Given the description of an element on the screen output the (x, y) to click on. 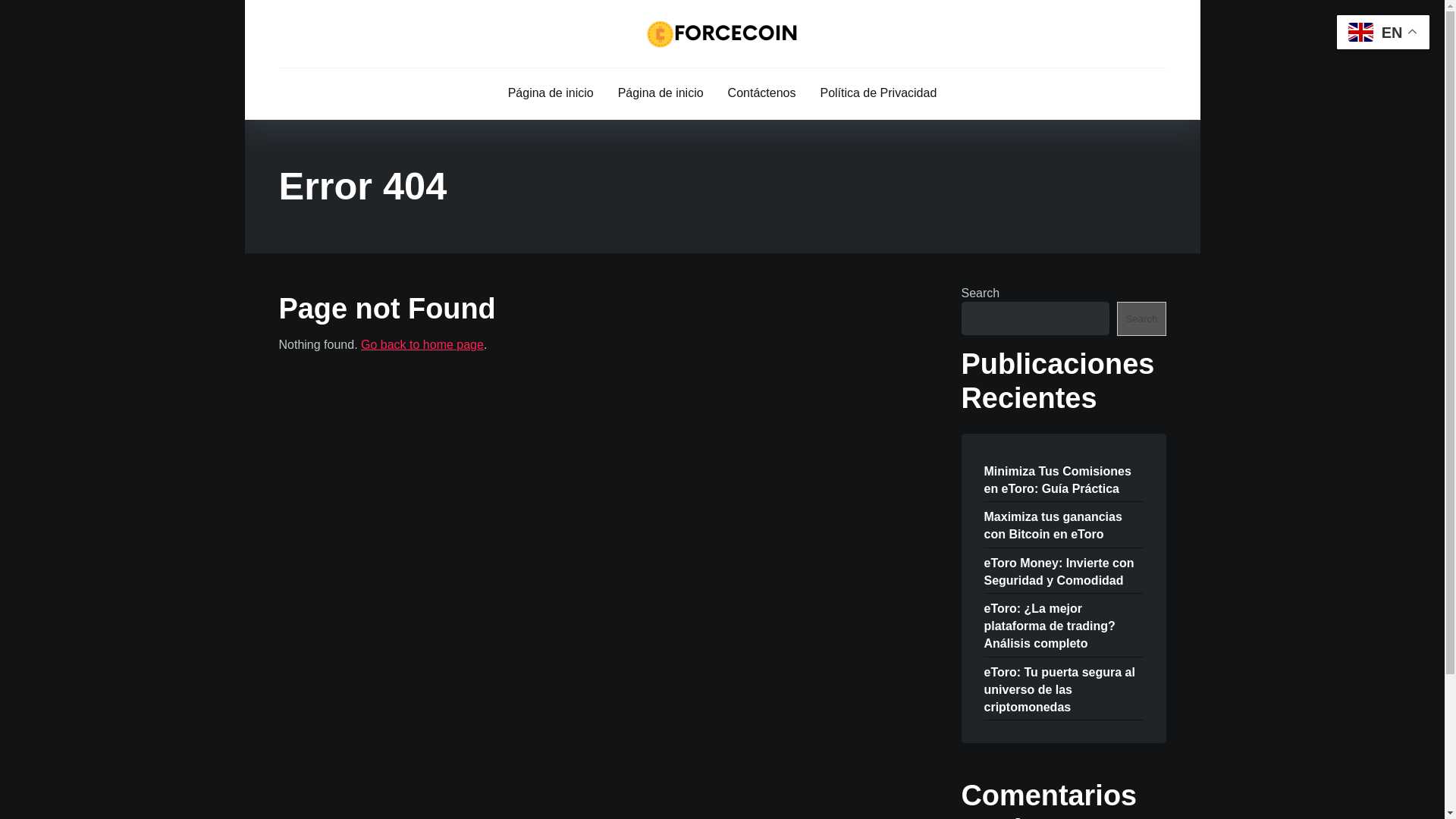
eToro Money: Invierte con Seguridad y Comodidad (1059, 570)
Go back to home page (422, 344)
eToro: Tu puerta segura al universo de las criptomonedas (1059, 688)
Forcecoin (722, 33)
Search (1141, 318)
Maximiza tus ganancias con Bitcoin en eToro (1053, 524)
Forcecoin (422, 344)
